Given the description of an element on the screen output the (x, y) to click on. 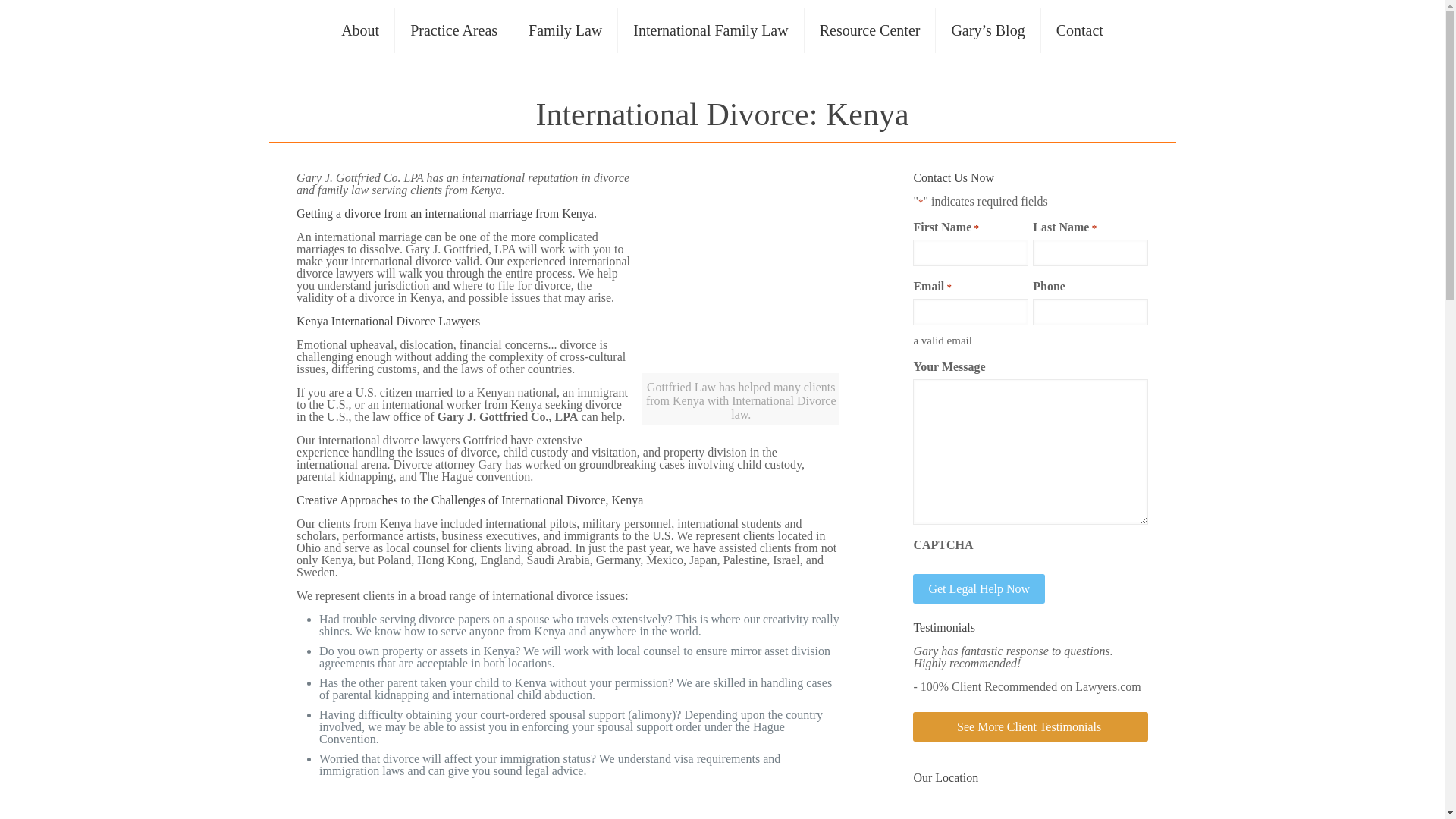
Get Legal Help Now (978, 588)
Practice Areas (453, 30)
Contact (1079, 30)
About (360, 30)
Family Law (565, 30)
International Family Law (710, 30)
Resource Center (870, 30)
